Given the description of an element on the screen output the (x, y) to click on. 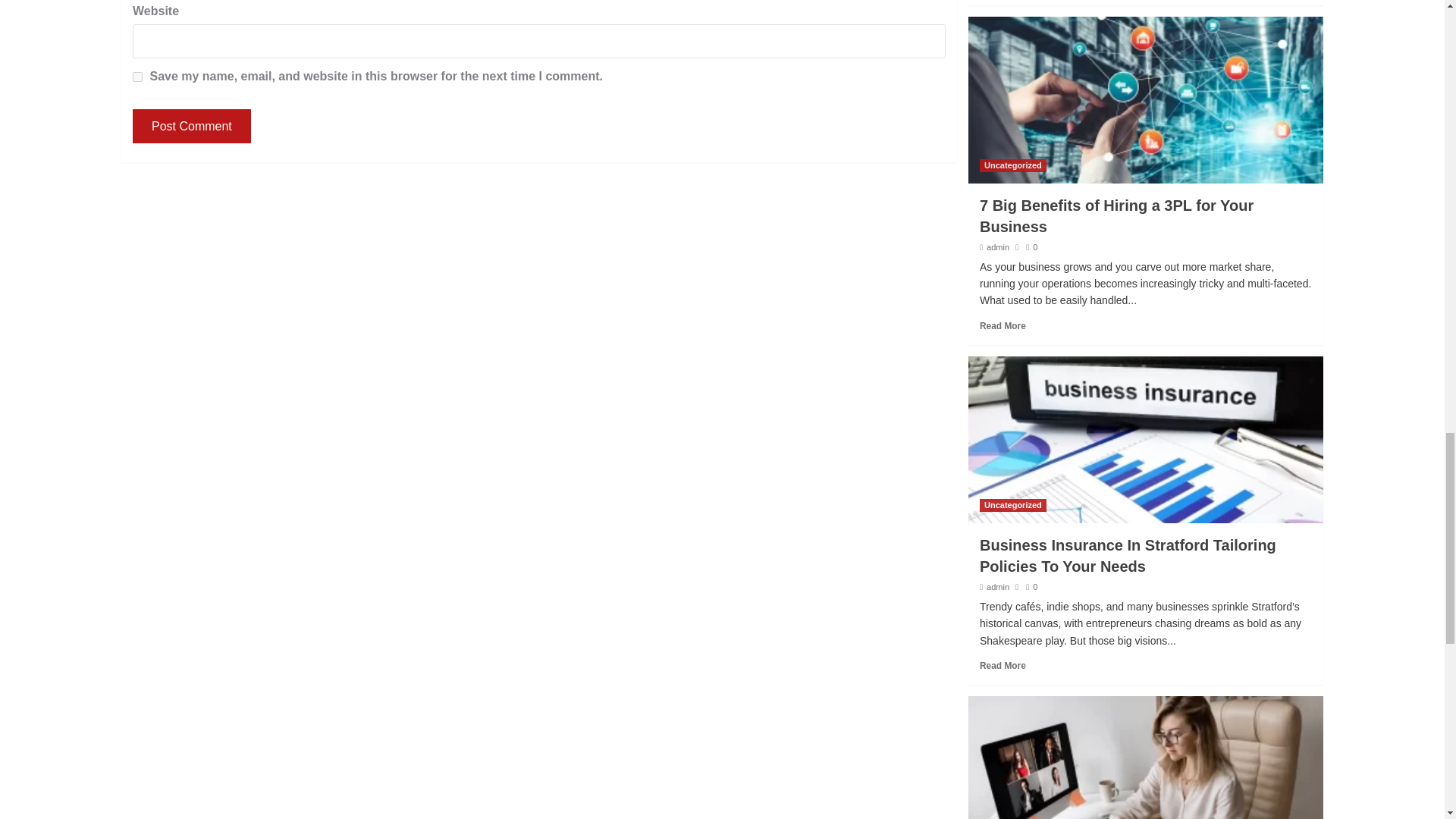
Post Comment (191, 125)
yes (137, 76)
